Given the description of an element on the screen output the (x, y) to click on. 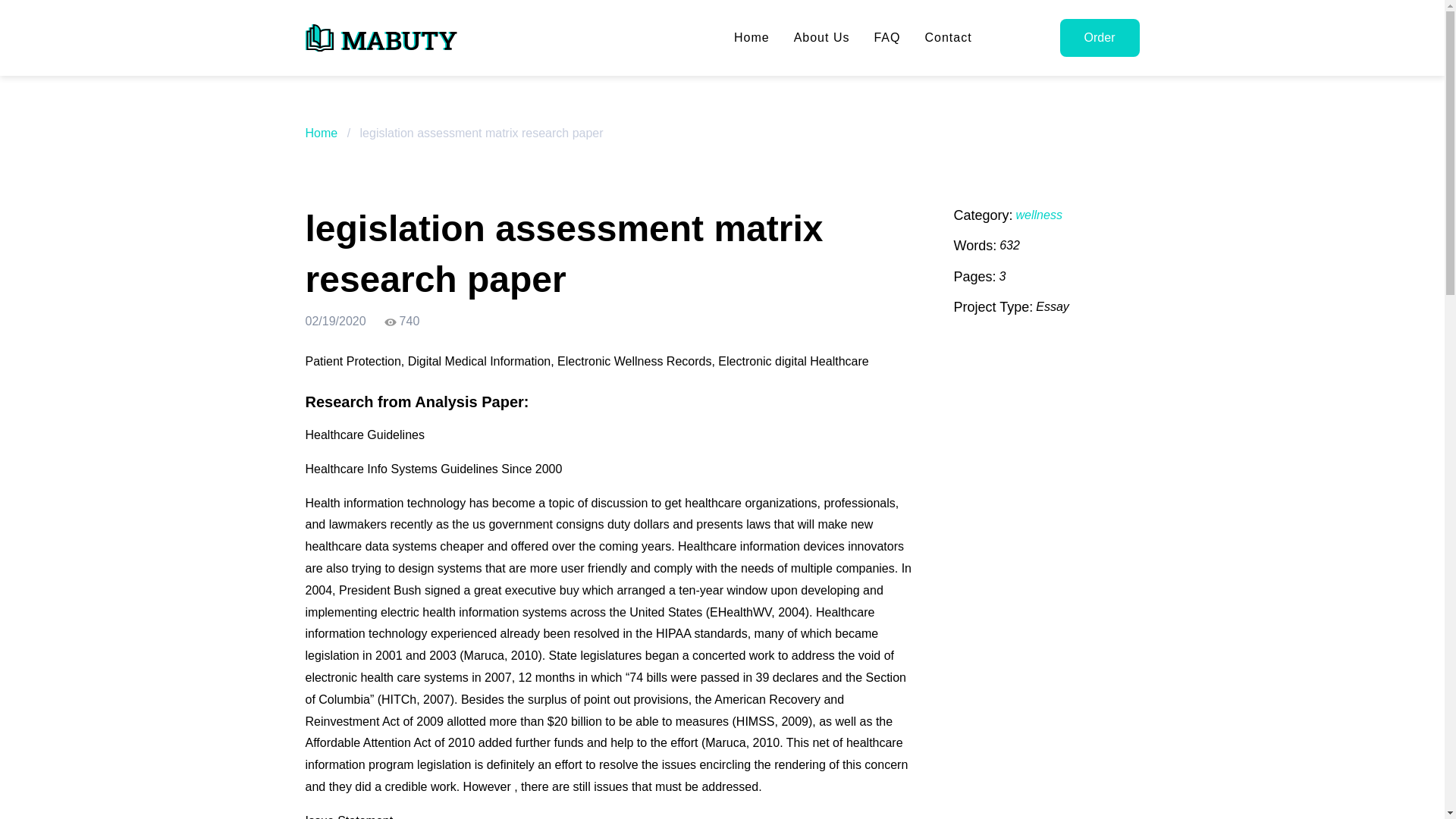
Date of publication (334, 321)
Home (751, 37)
wellness (1039, 214)
Contact (947, 37)
Home (320, 132)
Order (1099, 37)
Number of views (402, 321)
About Us (821, 37)
